Given the description of an element on the screen output the (x, y) to click on. 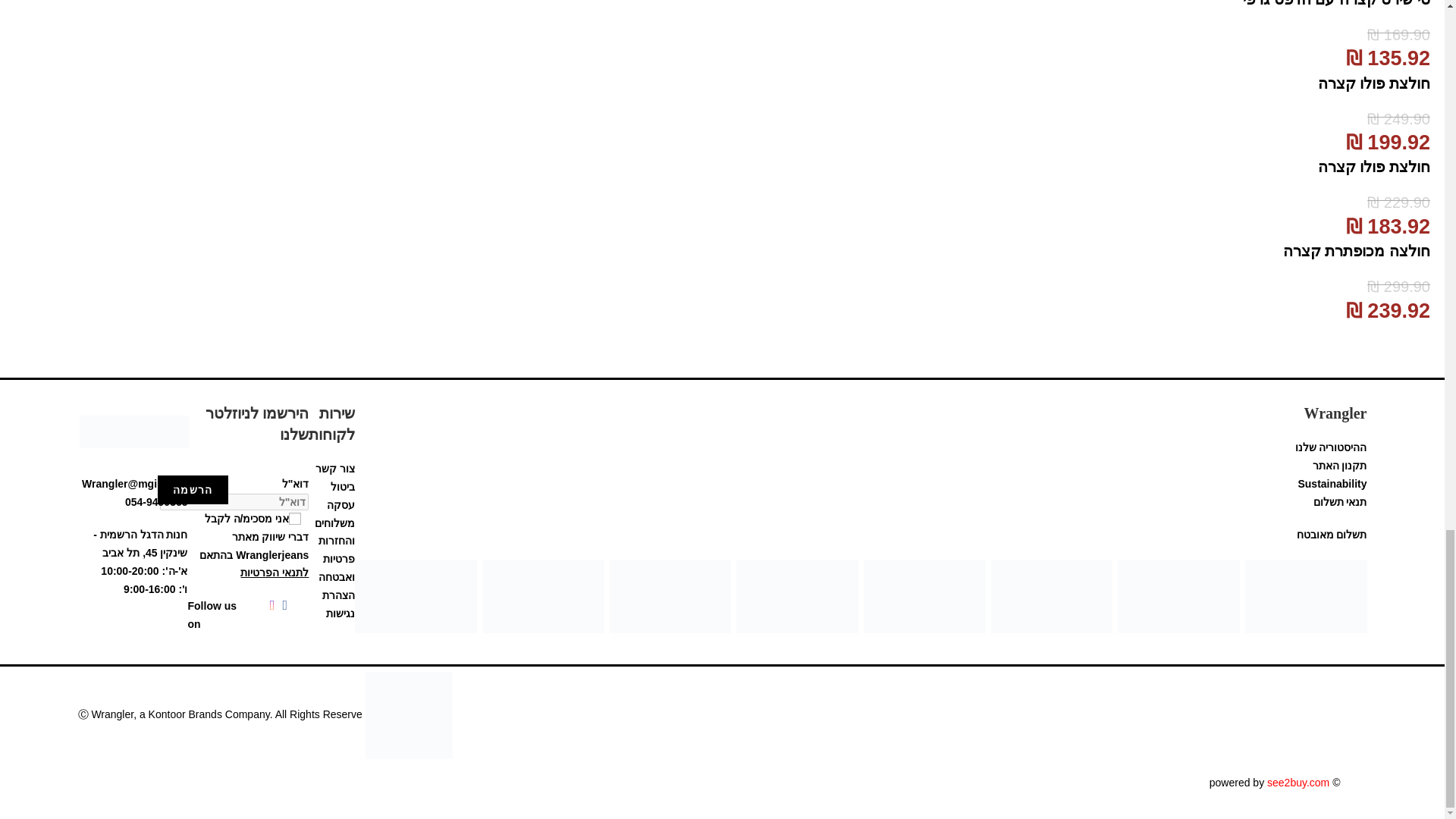
1 (294, 518)
